Given the description of an element on the screen output the (x, y) to click on. 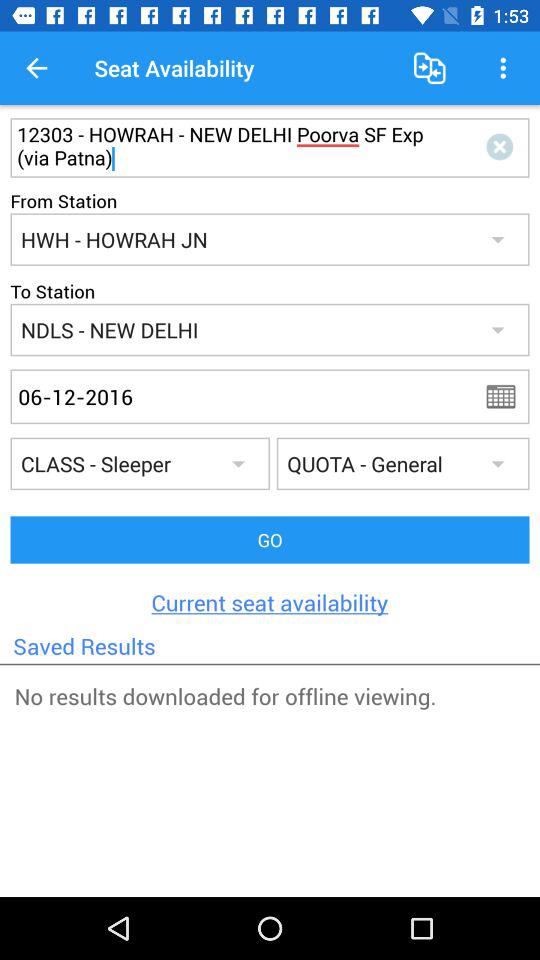
select the text which is below go field box (269, 602)
click on the into icon (503, 147)
select the first text box (232, 147)
select the drop down quota  general (403, 463)
